Given the description of an element on the screen output the (x, y) to click on. 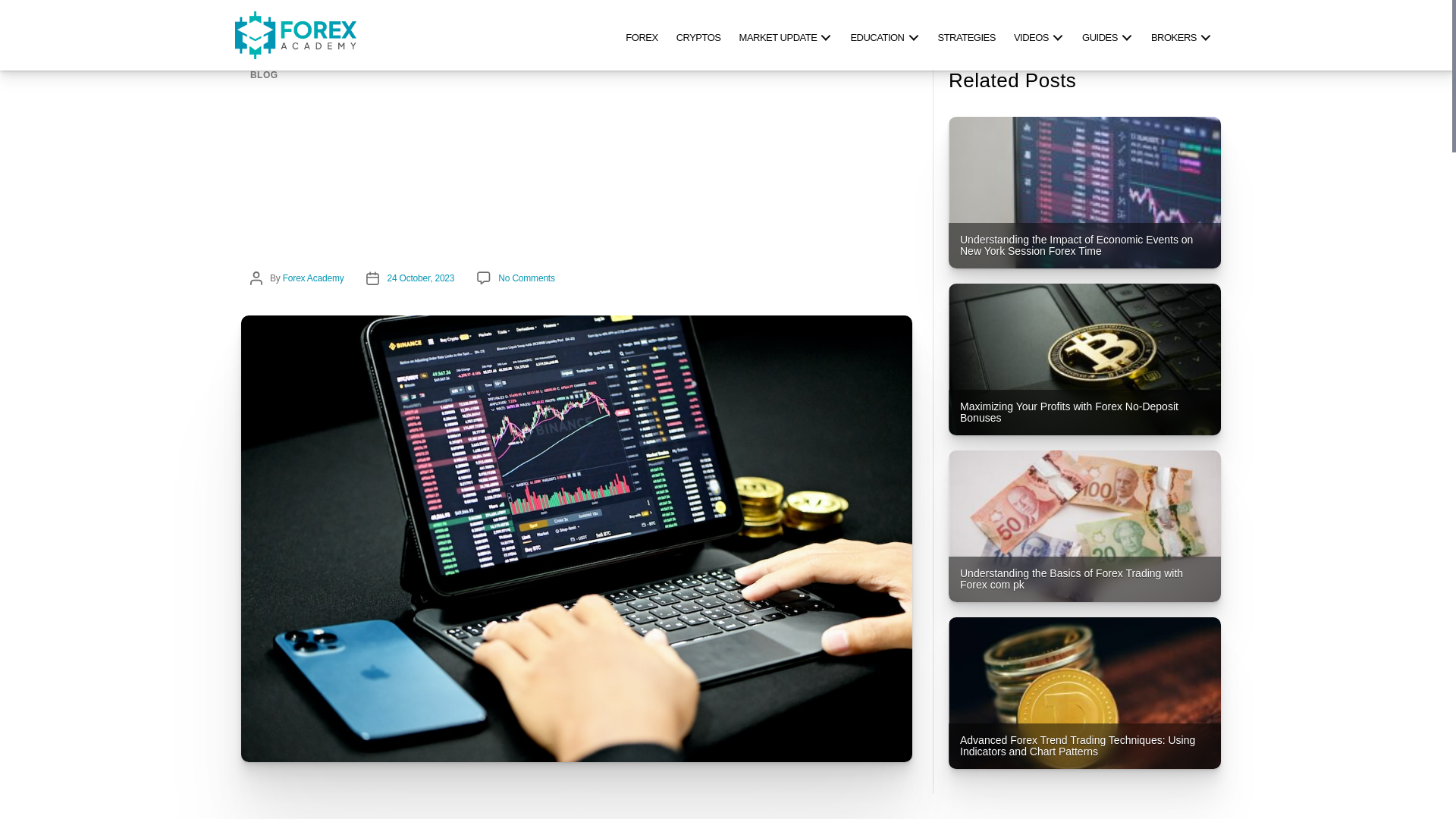
EDUCATION (884, 35)
Understanding the Basics of Forex Trading with Forex com pk (1085, 525)
VIDEOS (1038, 35)
MARKET UPDATE (785, 35)
Maximizing Your Profits with Forex No-Deposit Bonuses (1085, 358)
BROKERS (1181, 35)
STRATEGIES (966, 35)
GUIDES (1107, 35)
